Given the description of an element on the screen output the (x, y) to click on. 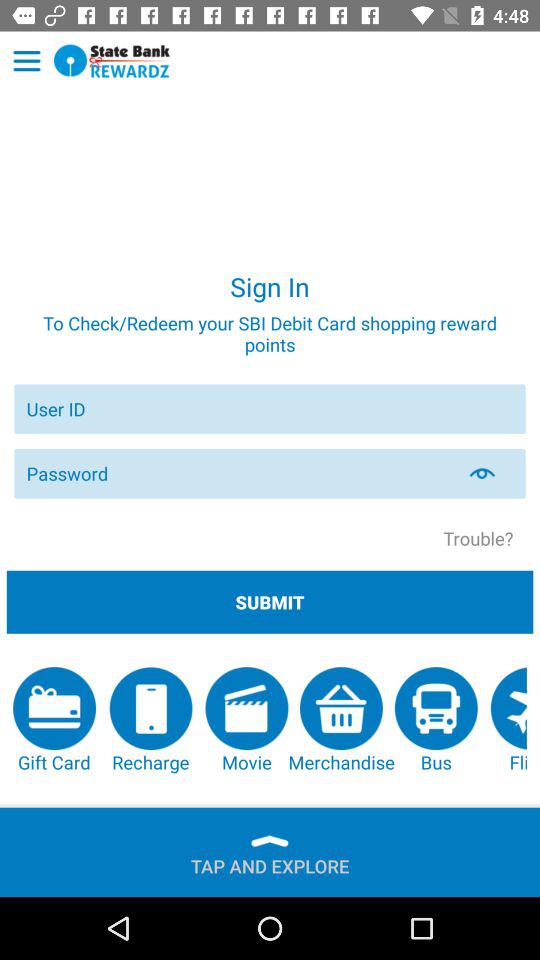
launch the icon below the submit (246, 720)
